Given the description of an element on the screen output the (x, y) to click on. 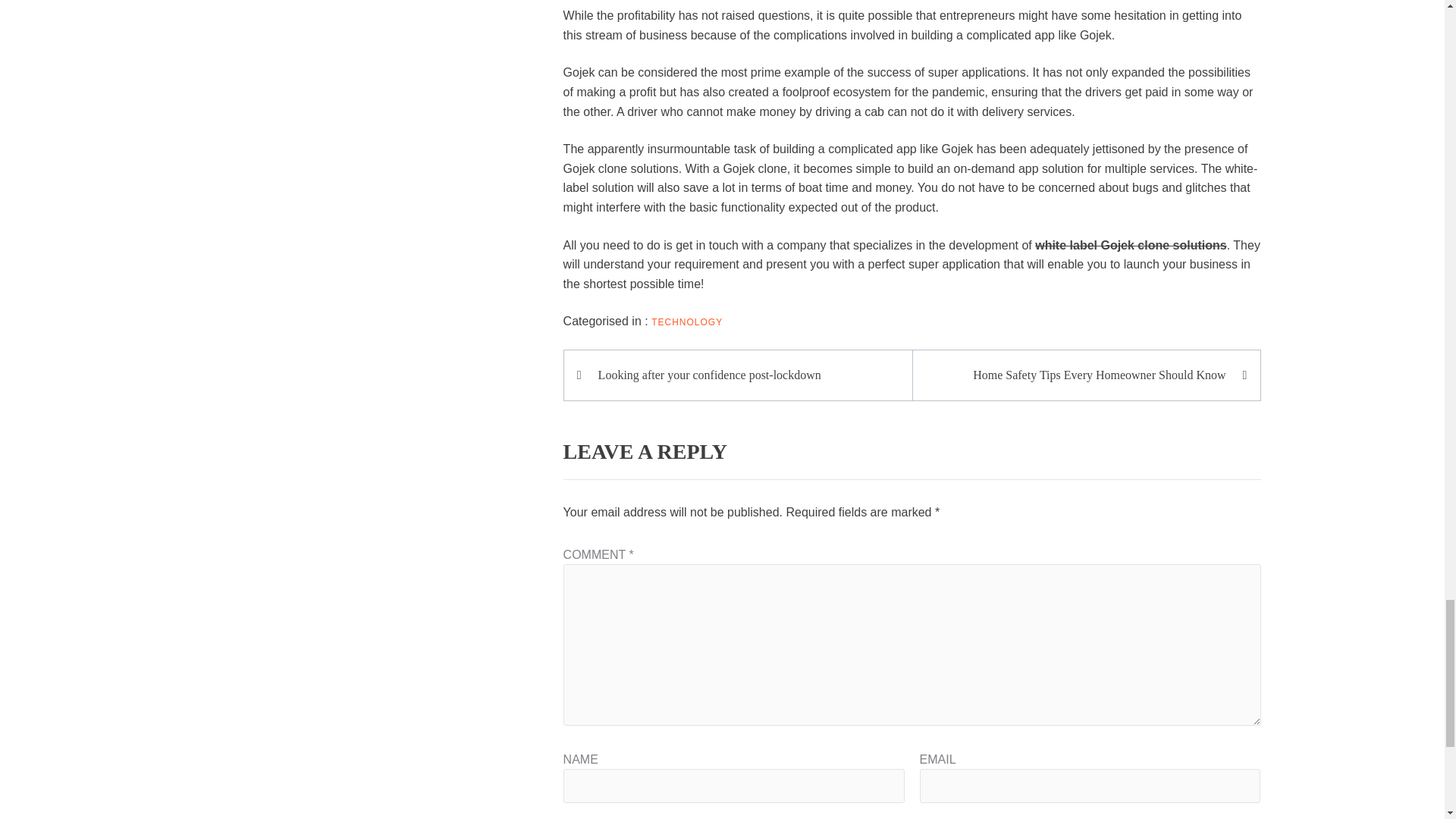
TECHNOLOGY (686, 321)
Looking after your confidence post-lockdown (745, 374)
white label Gojek clone solutions (1131, 245)
Home Safety Tips Every Homeowner Should Know (1078, 374)
